Given the description of an element on the screen output the (x, y) to click on. 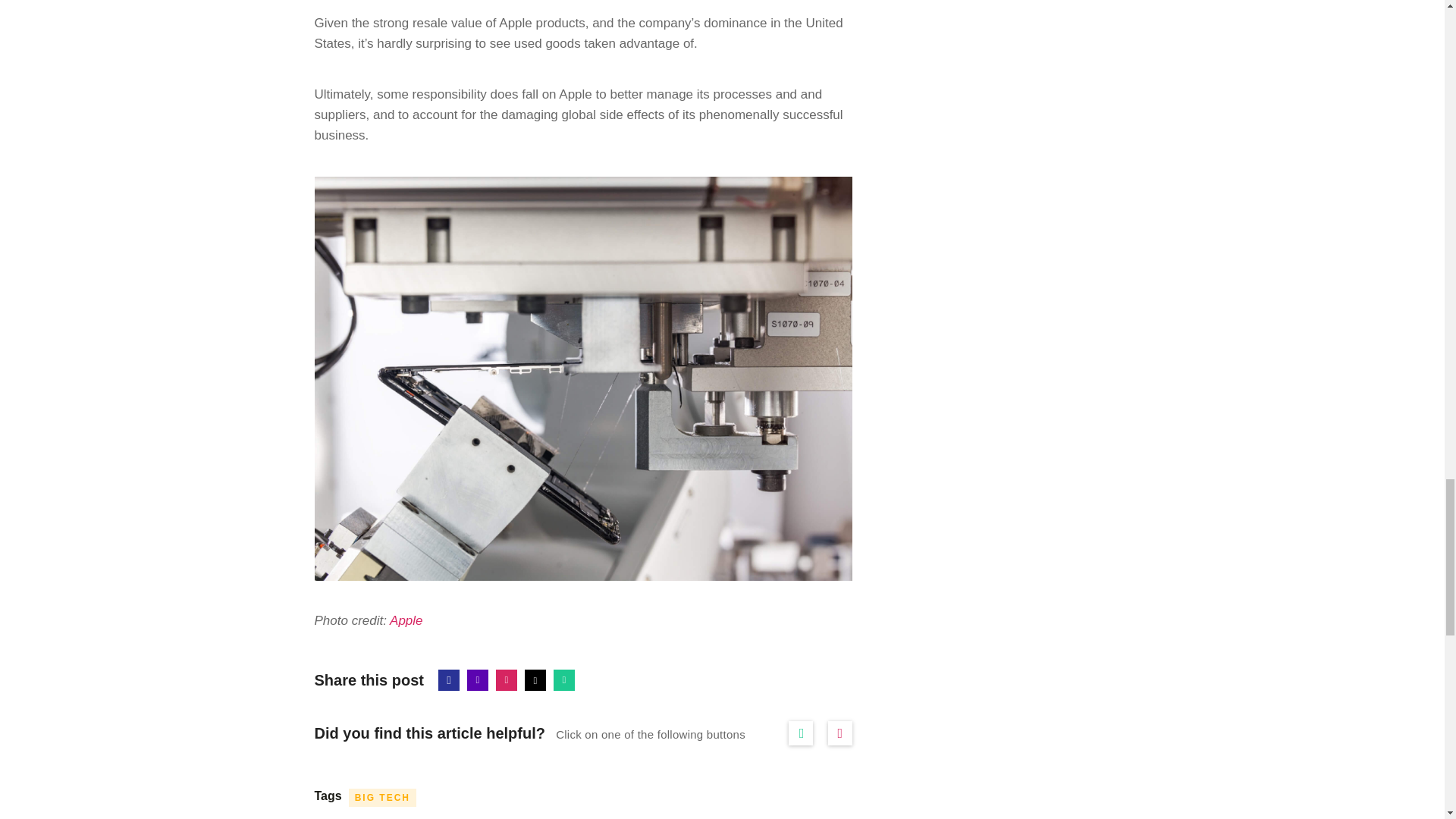
Whatsapp (564, 680)
Linkedin (477, 680)
Facebook (449, 680)
Flipboard (506, 680)
Twitter-x (535, 680)
